Given the description of an element on the screen output the (x, y) to click on. 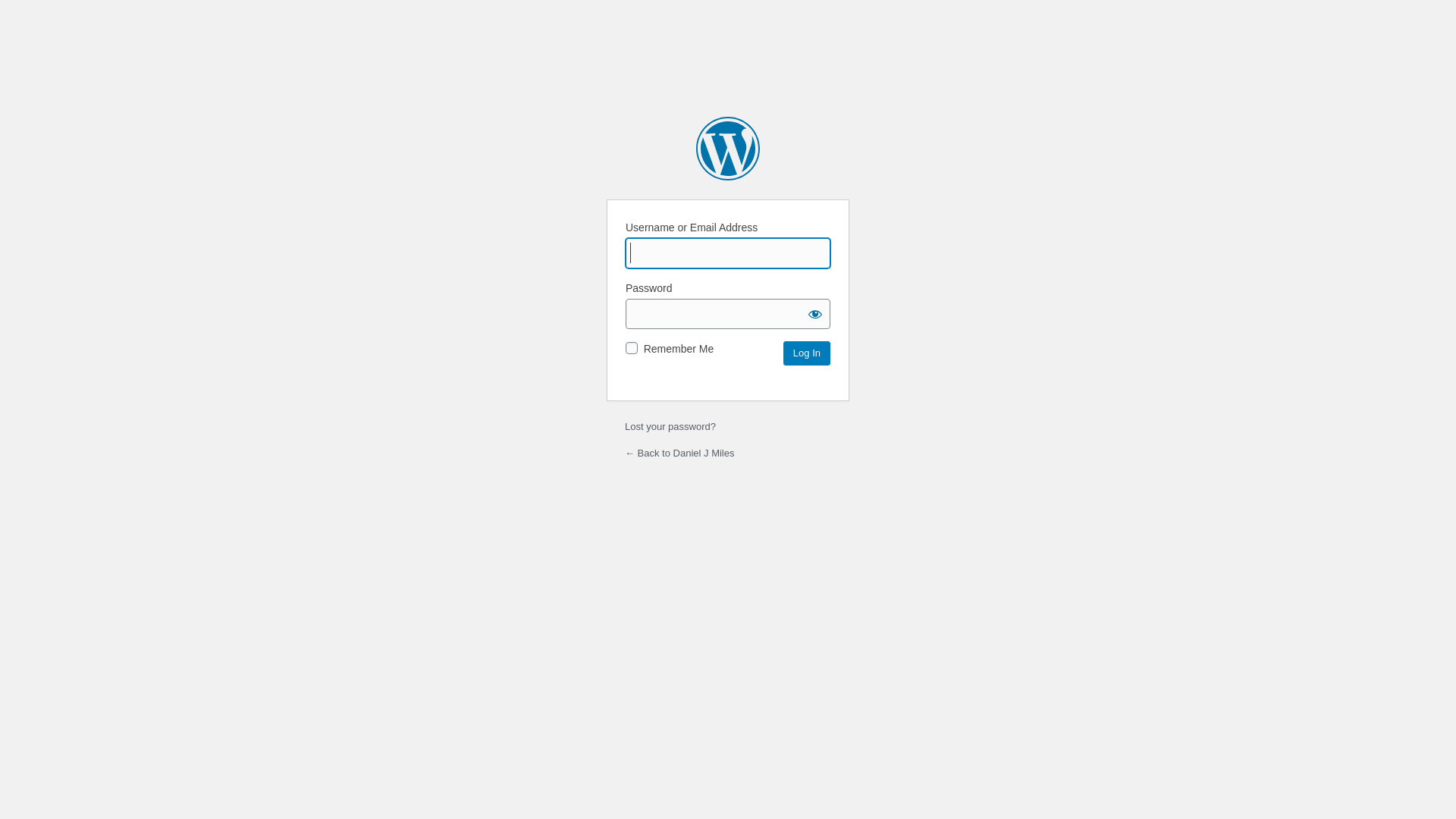
Powered by WordPress Element type: text (727, 148)
Log In Element type: text (806, 353)
Lost your password? Element type: text (669, 426)
